Given the description of an element on the screen output the (x, y) to click on. 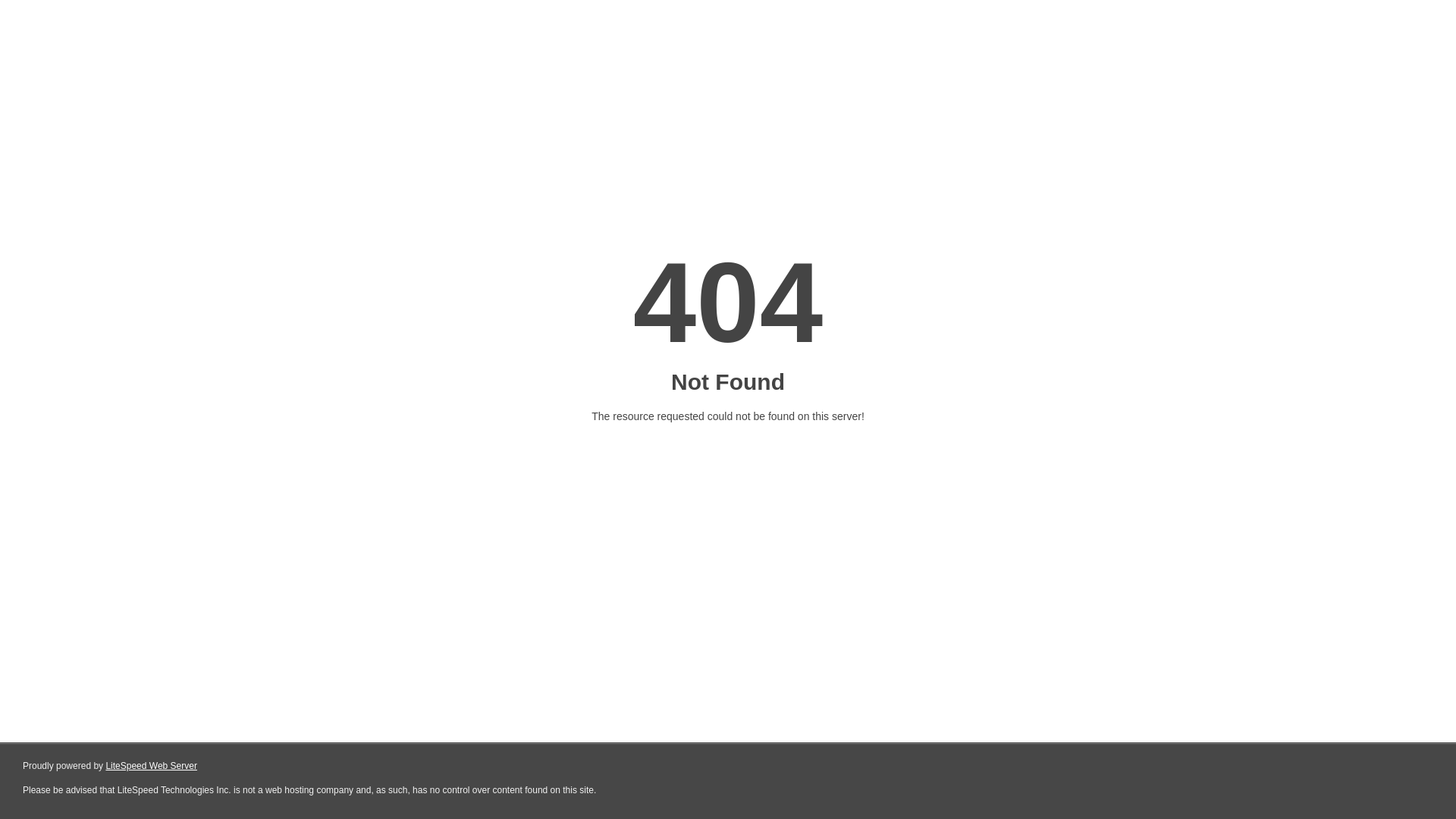
LiteSpeed Web Server Element type: text (151, 765)
